Given the description of an element on the screen output the (x, y) to click on. 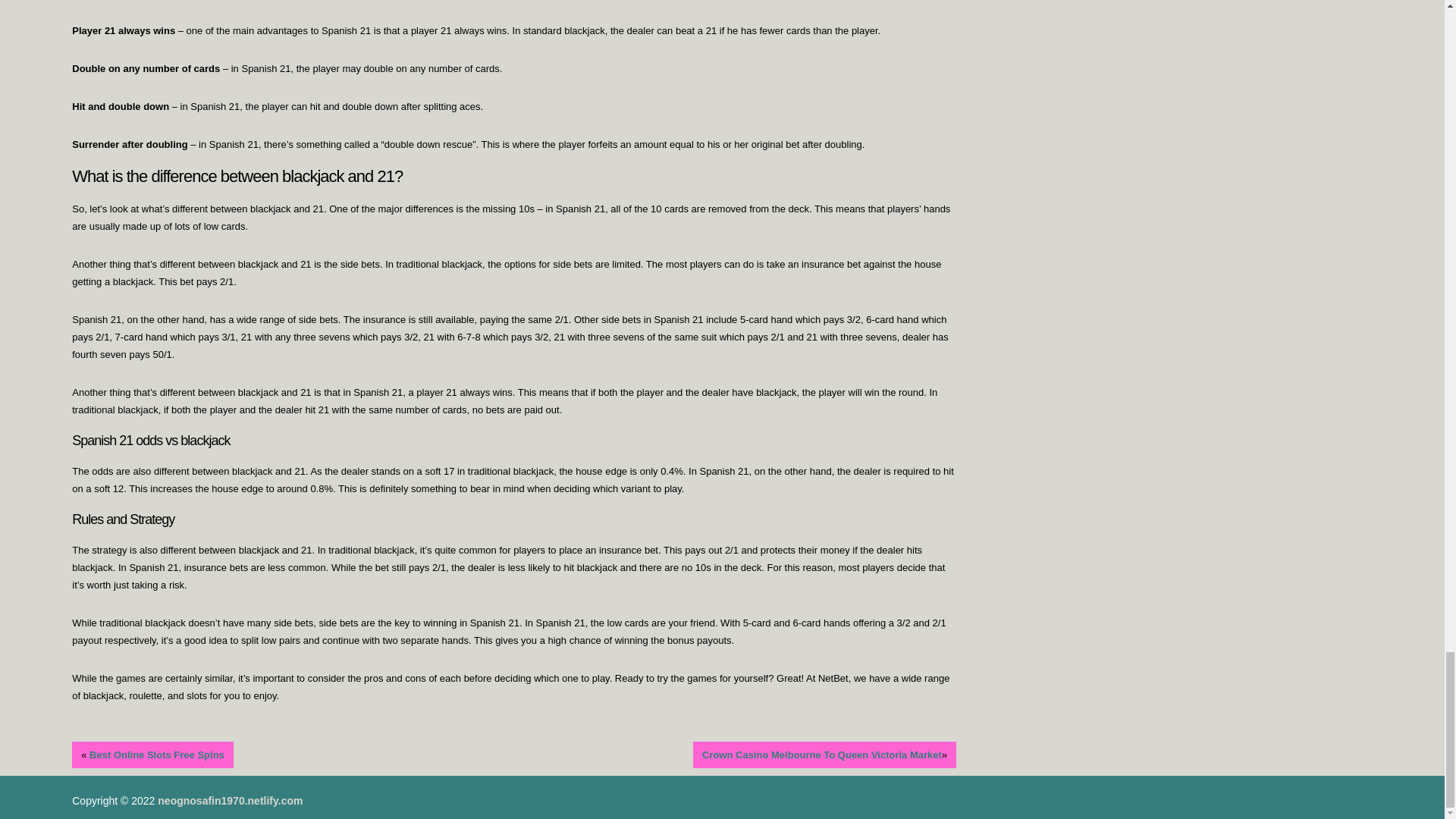
neognosafin1970.netlify.com (229, 800)
Crown Casino Melbourne To Queen Victoria Market (821, 754)
neognosafin1970.netlify.com (229, 800)
Best Online Slots Free Spins (156, 754)
